Given the description of an element on the screen output the (x, y) to click on. 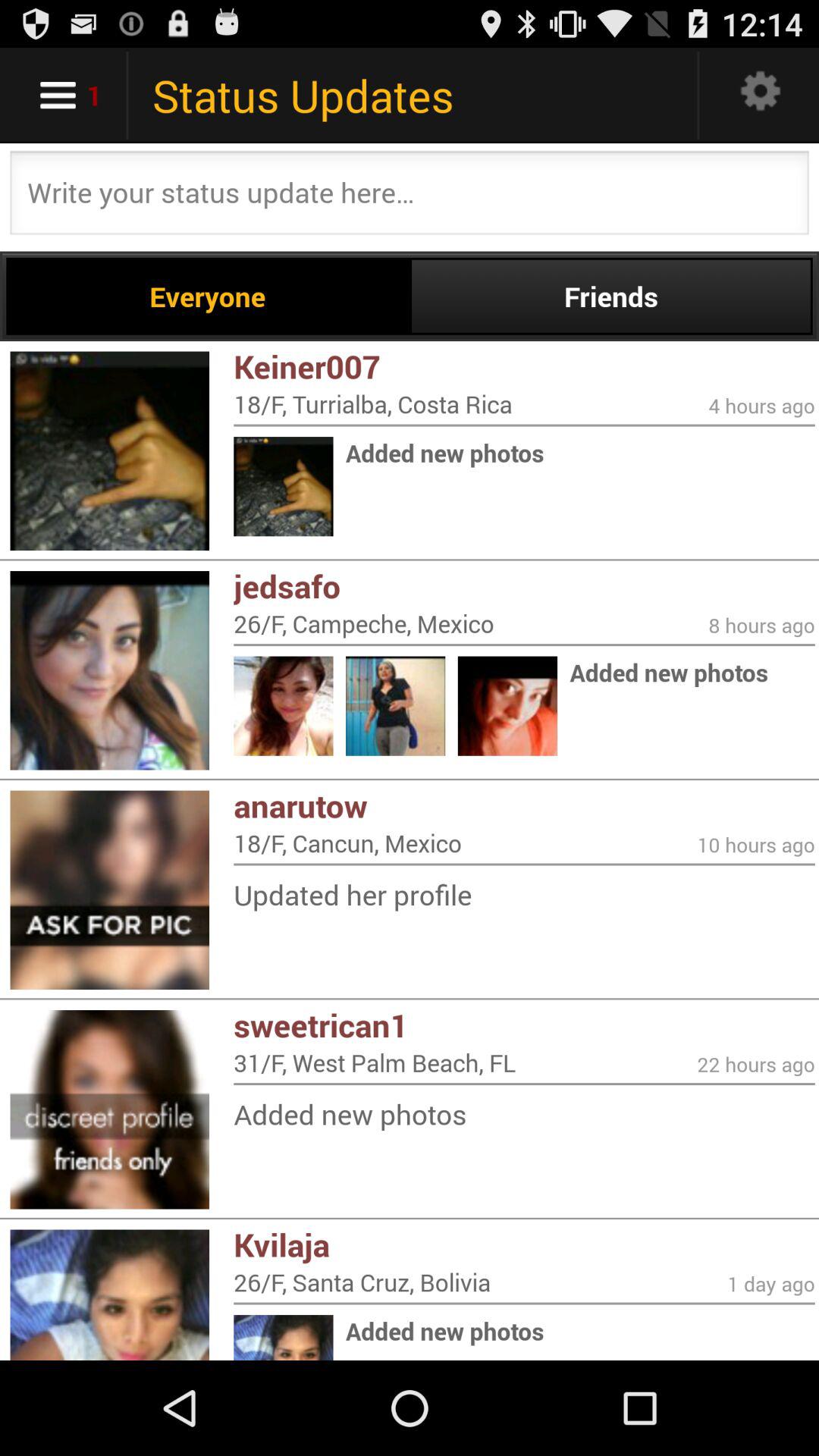
turn on app above keiner007 icon (207, 295)
